Given the description of an element on the screen output the (x, y) to click on. 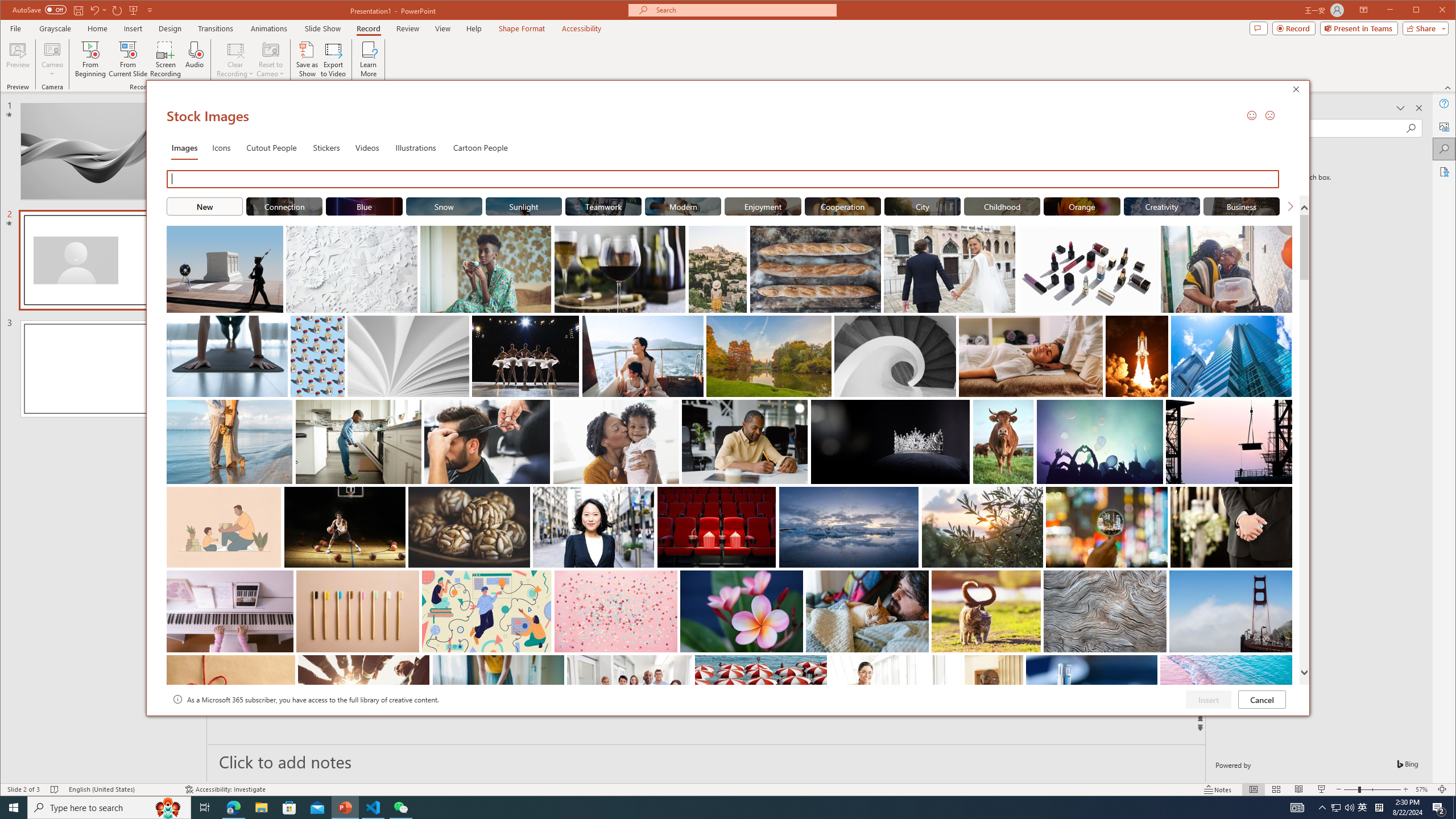
Audio (194, 59)
Learn More (368, 59)
